Given the description of an element on the screen output the (x, y) to click on. 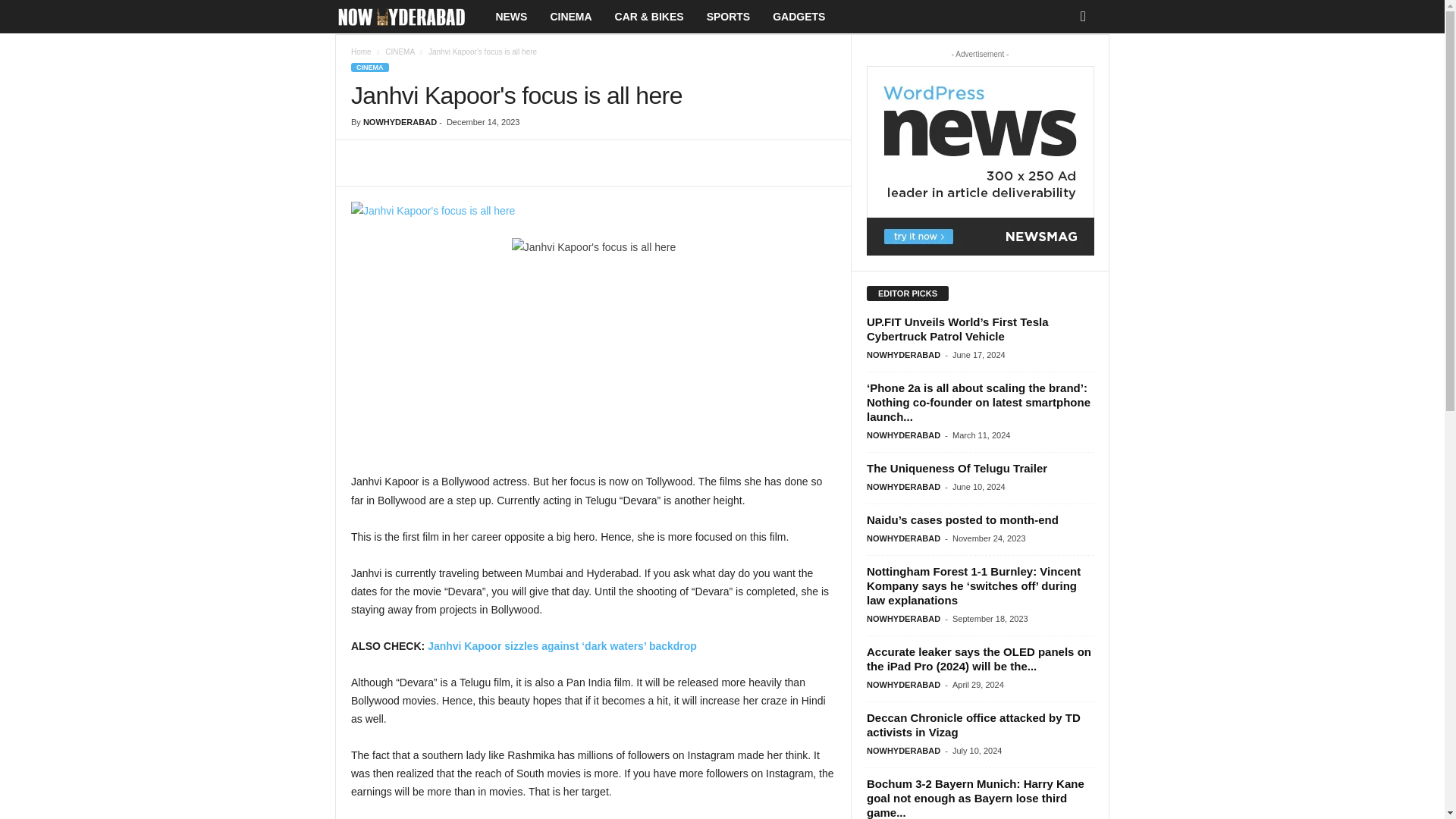
CINEMA (570, 16)
Home (360, 51)
CINEMA (369, 67)
NOW HYDERABAD (408, 16)
View all posts in CINEMA (399, 51)
NOWHYDERABAD (399, 121)
NEWS (510, 16)
Janhvi Kapoor's focus is all here (592, 210)
GADGETS (798, 16)
CINEMA (399, 51)
